Given the description of an element on the screen output the (x, y) to click on. 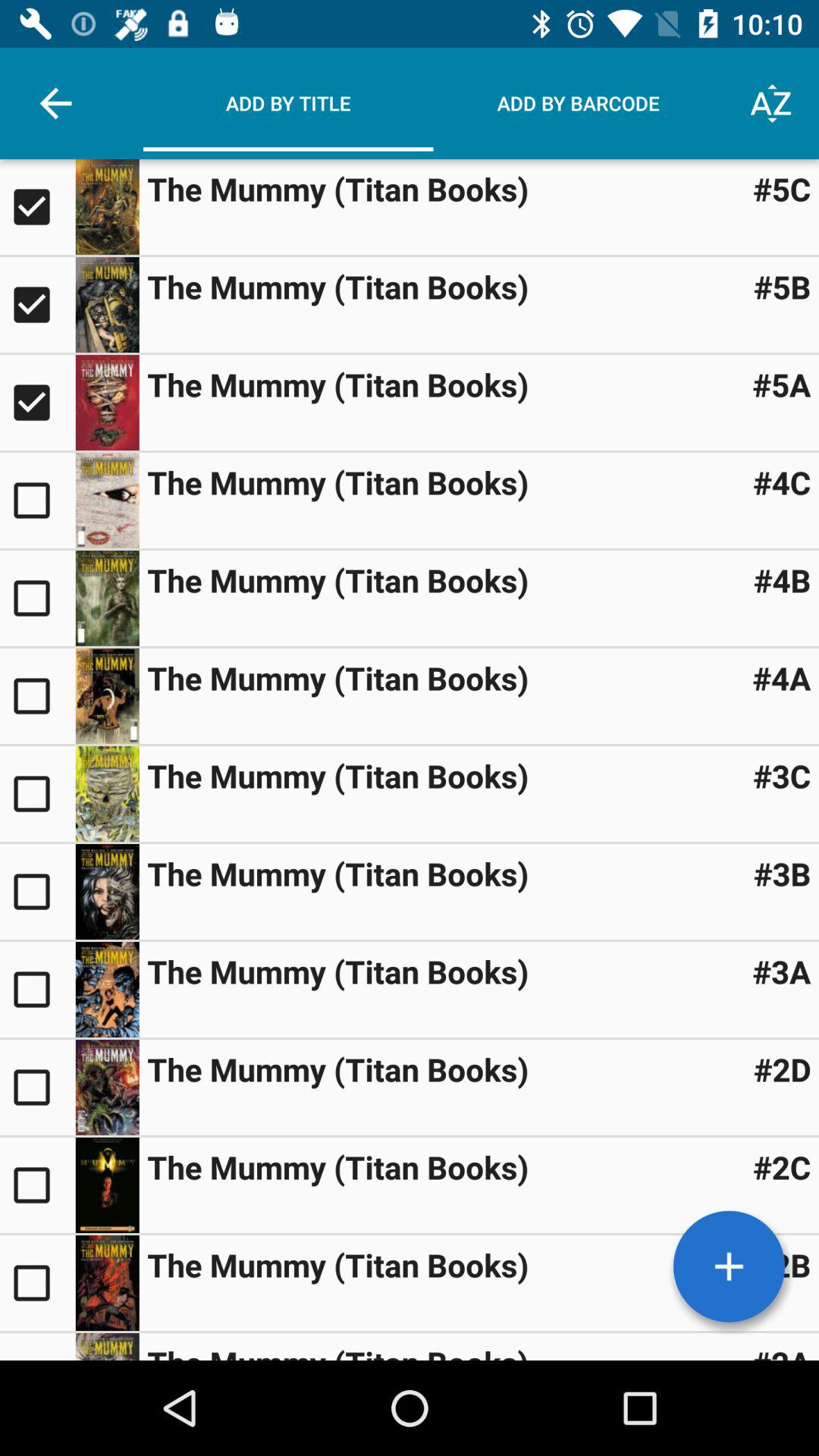
select option (37, 1087)
